Given the description of an element on the screen output the (x, y) to click on. 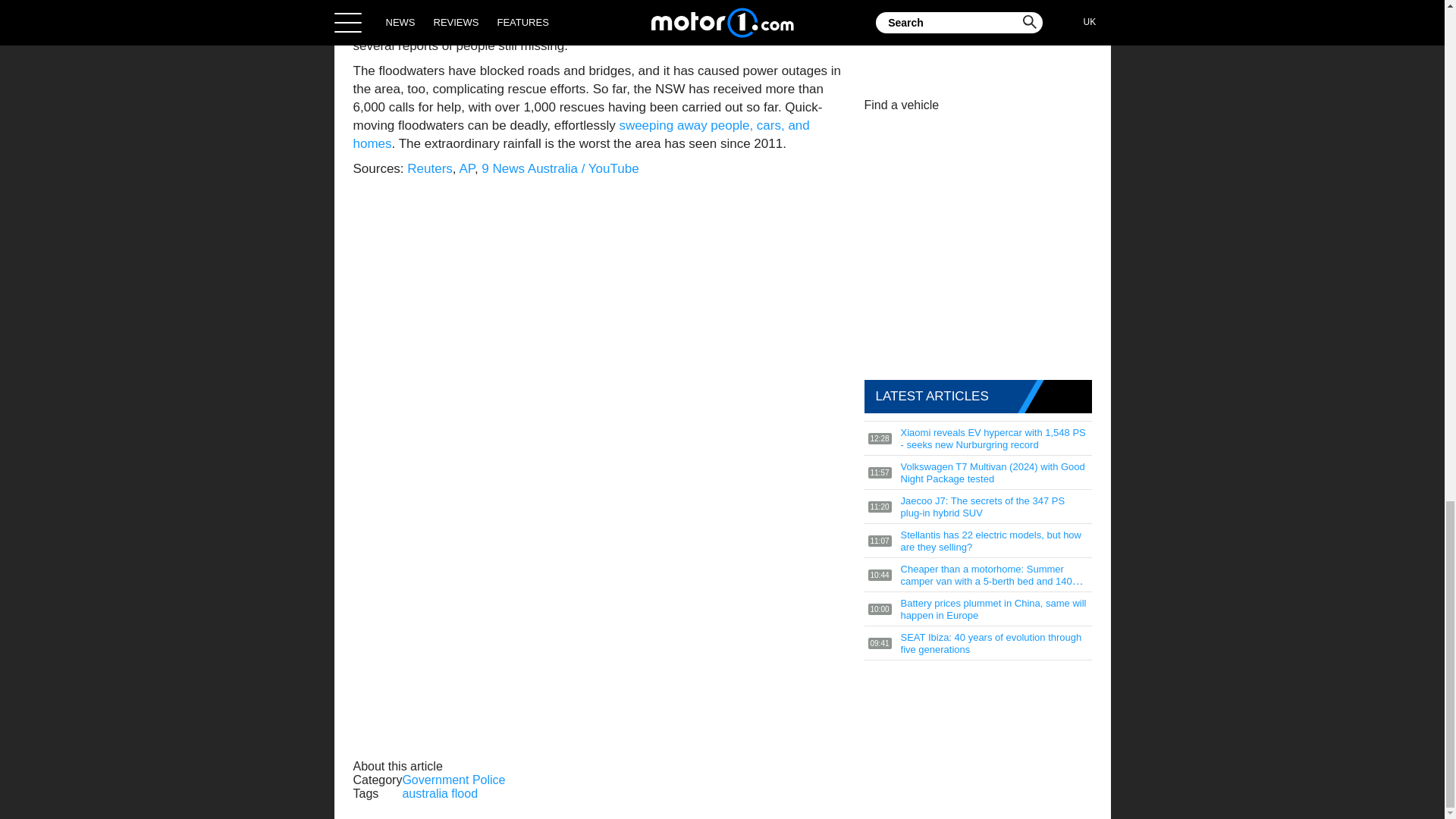
AP (466, 168)
Reuters (429, 168)
sweeping away people, cars, and homes (581, 133)
